Given the description of an element on the screen output the (x, y) to click on. 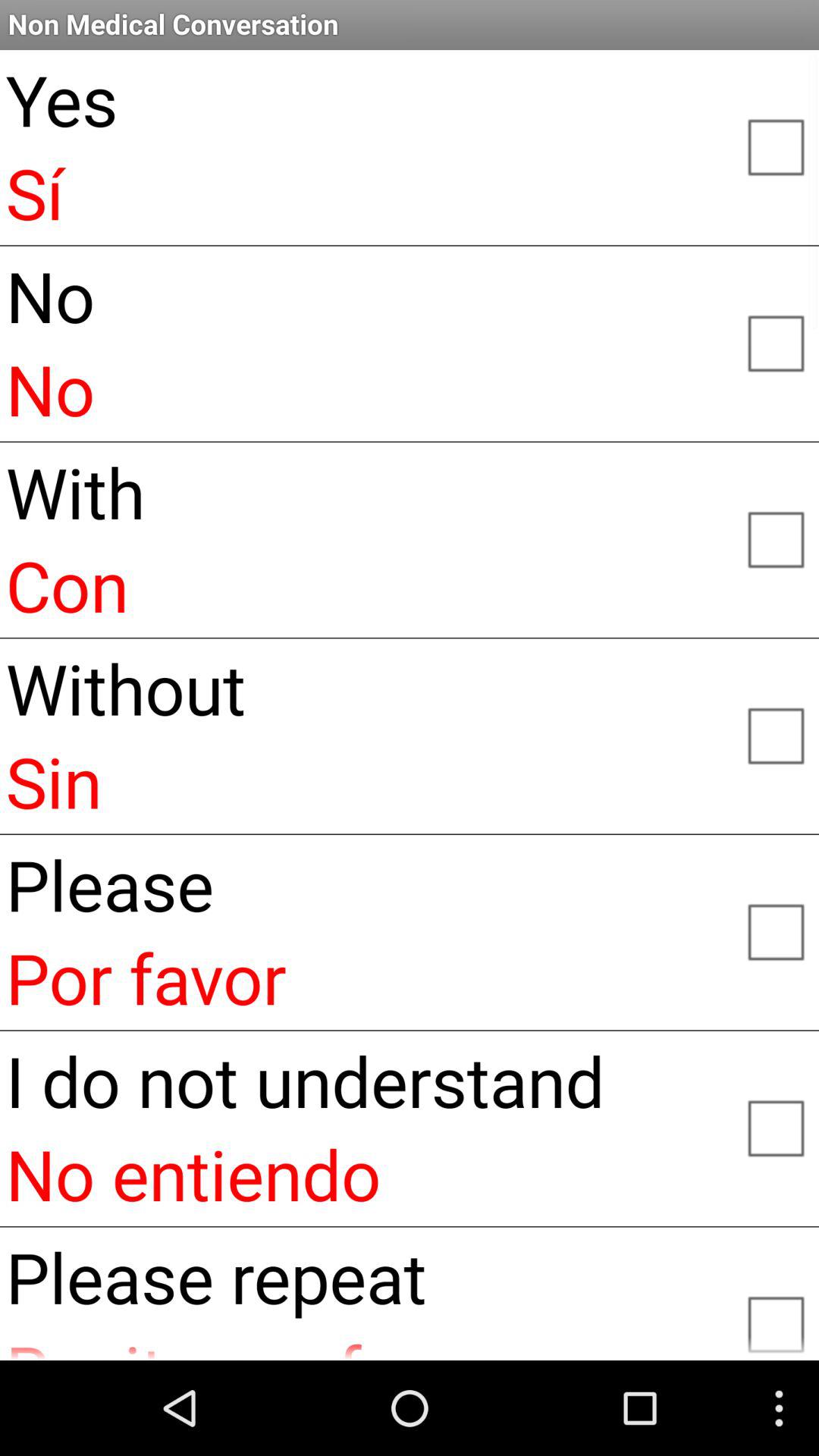
confirm response (775, 538)
